Given the description of an element on the screen output the (x, y) to click on. 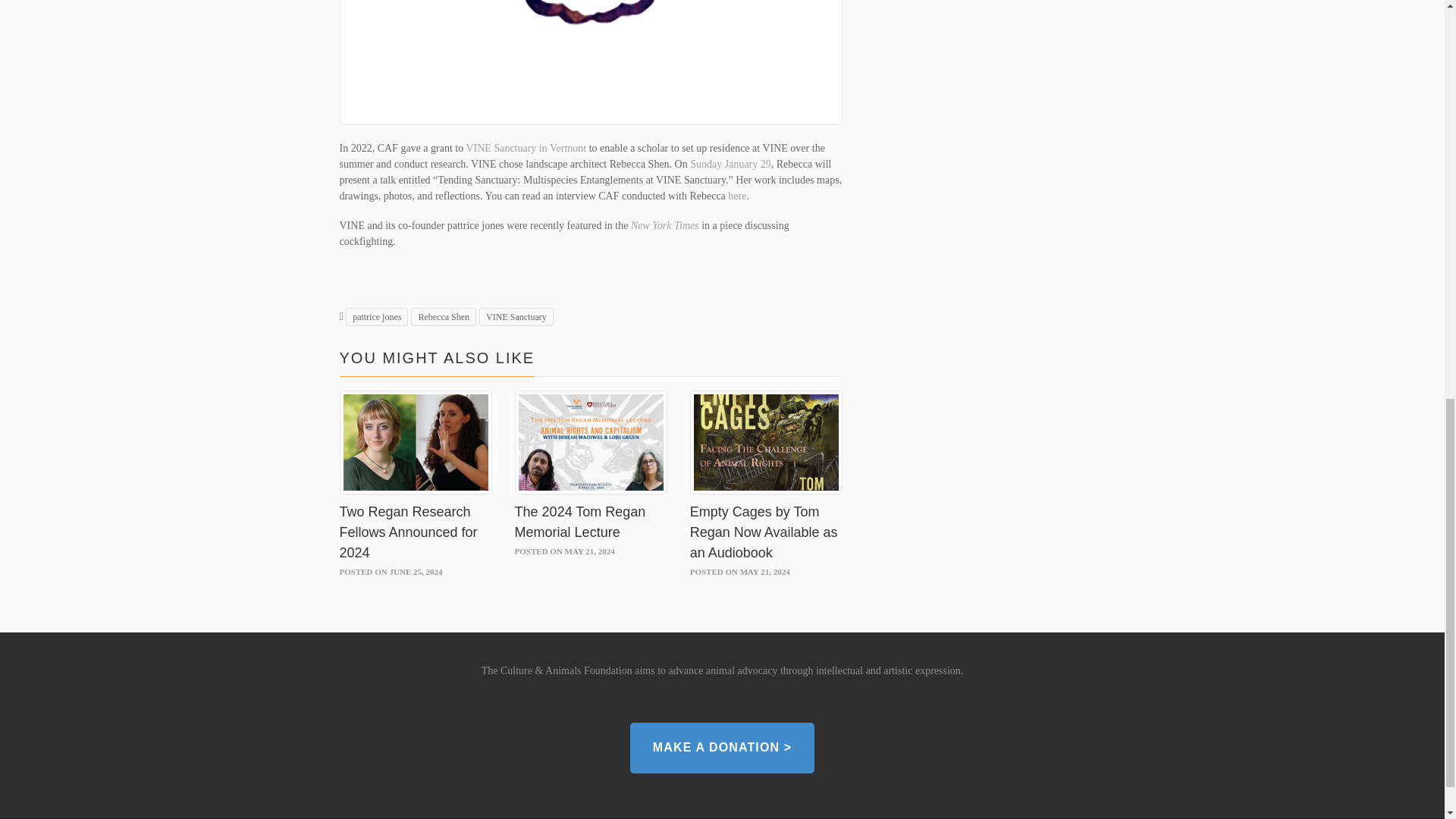
pattrice jones (376, 316)
VINE Sanctuary in Vermont (525, 147)
Rebecca Shen (443, 316)
Sunday January 29 (730, 163)
here (736, 195)
New York Times (664, 225)
